Given the description of an element on the screen output the (x, y) to click on. 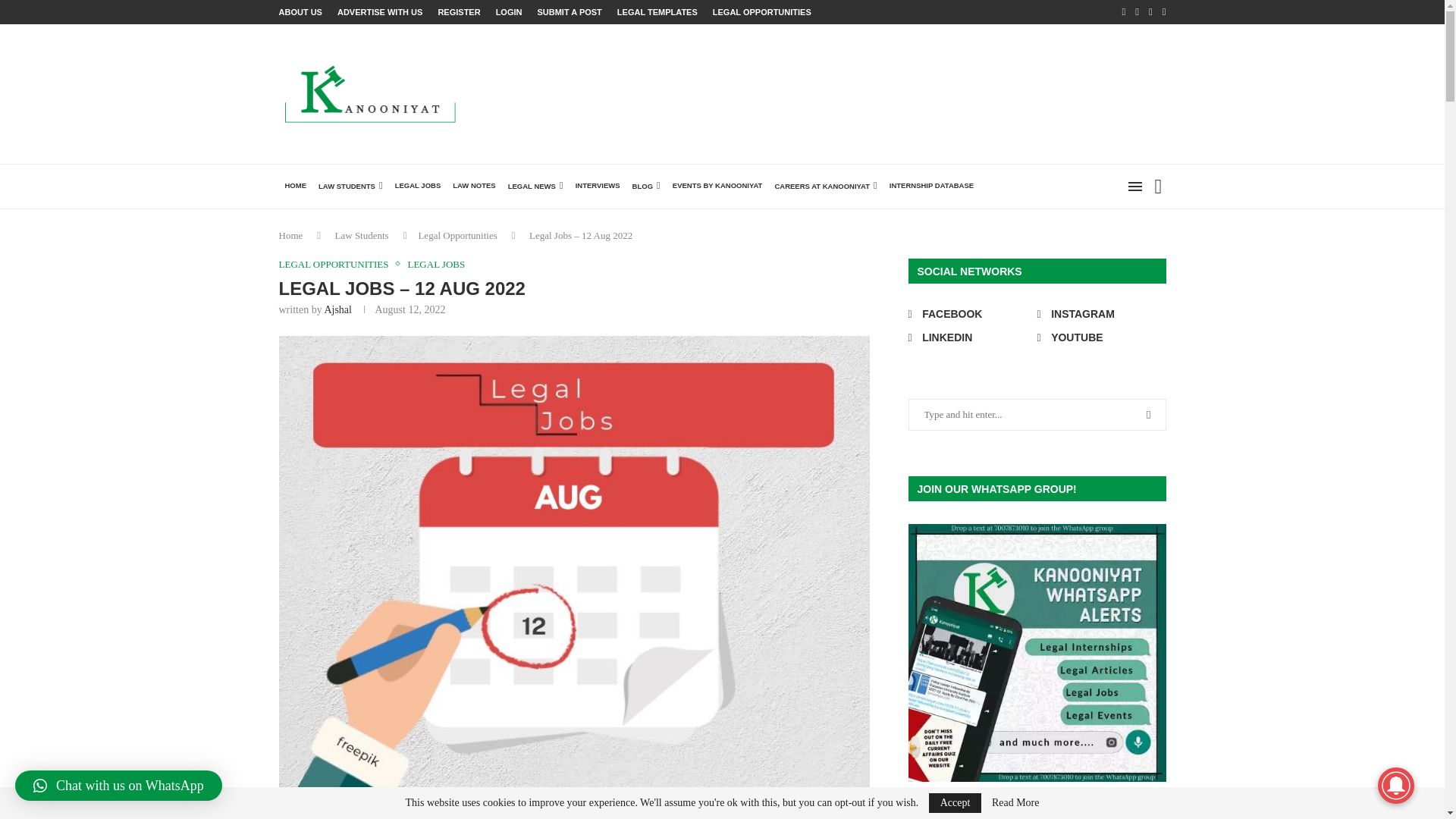
REGISTER (459, 12)
ADVERTISE WITH US (379, 12)
ABOUT US (300, 12)
EVENTS BY KANOONIYAT (717, 186)
Advertisement (890, 92)
Home (290, 235)
LEGAL NEWS (535, 186)
INTERVIEWS (597, 186)
LAW NOTES (473, 186)
Law Students (361, 235)
LEGAL OPPORTUNITIES (761, 12)
INTERNSHIP DATABASE (931, 186)
LEGAL TEMPLATES (657, 12)
LEGAL JOBS (417, 186)
